Given the description of an element on the screen output the (x, y) to click on. 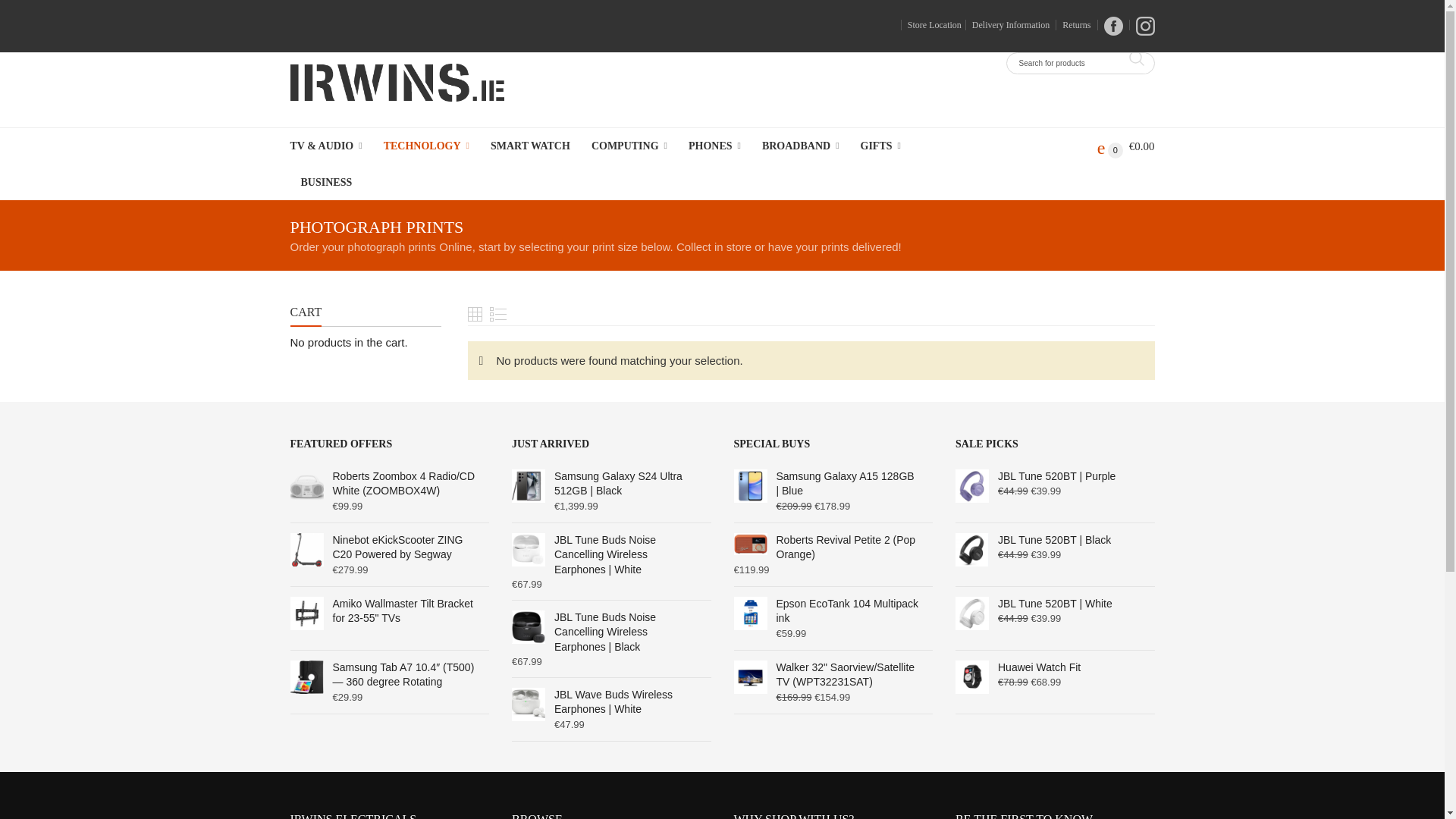
SMART WATCH (530, 145)
Store Location (930, 24)
PHONES (714, 145)
Delivery Information (1007, 24)
TECHNOLOGY (426, 145)
COMPUTING (628, 145)
BROADBAND (800, 145)
View your shopping cart (1125, 146)
Returns (1072, 24)
